Given the description of an element on the screen output the (x, y) to click on. 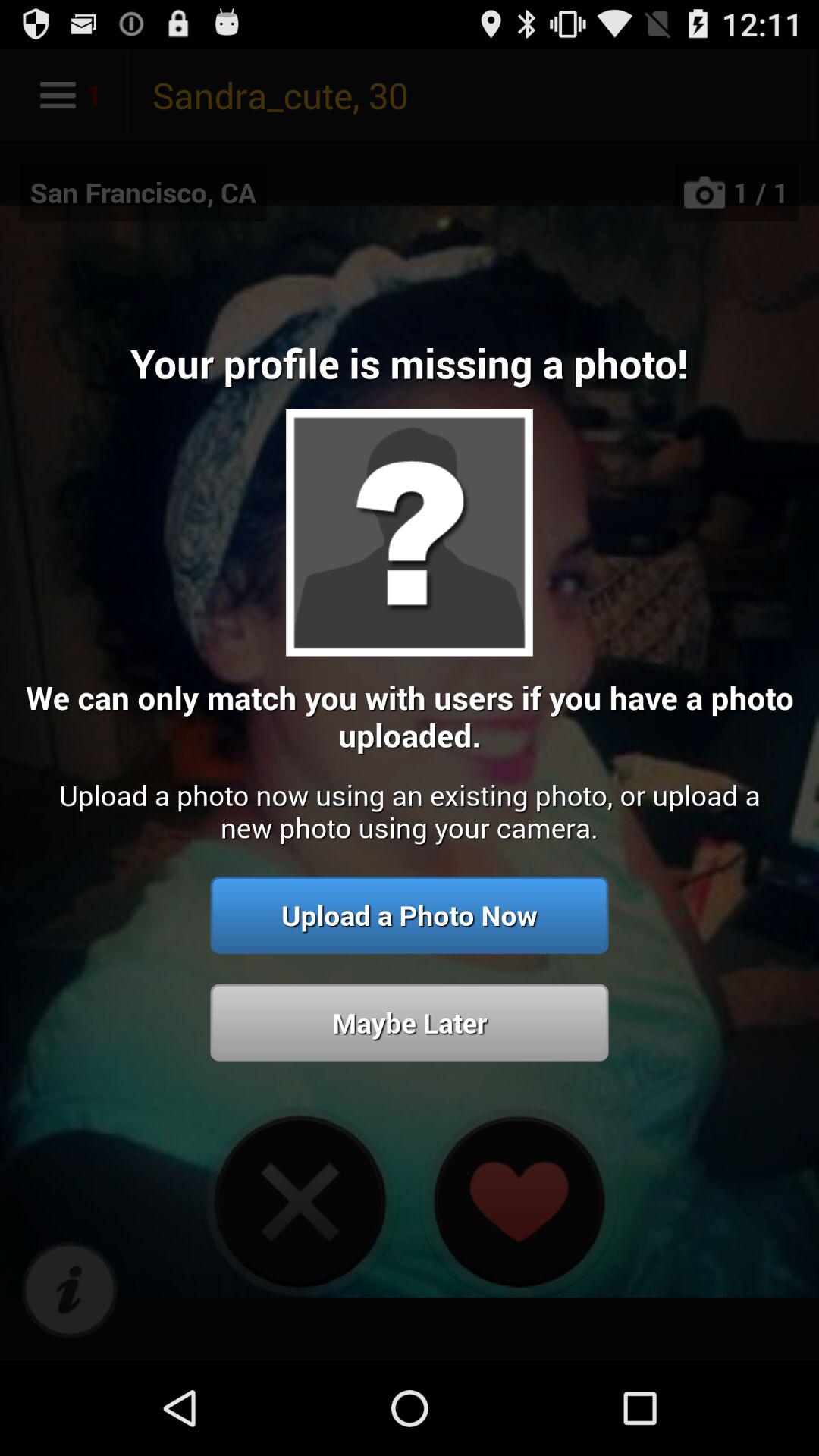
tap the icon at the bottom left corner (69, 1290)
